Given the description of an element on the screen output the (x, y) to click on. 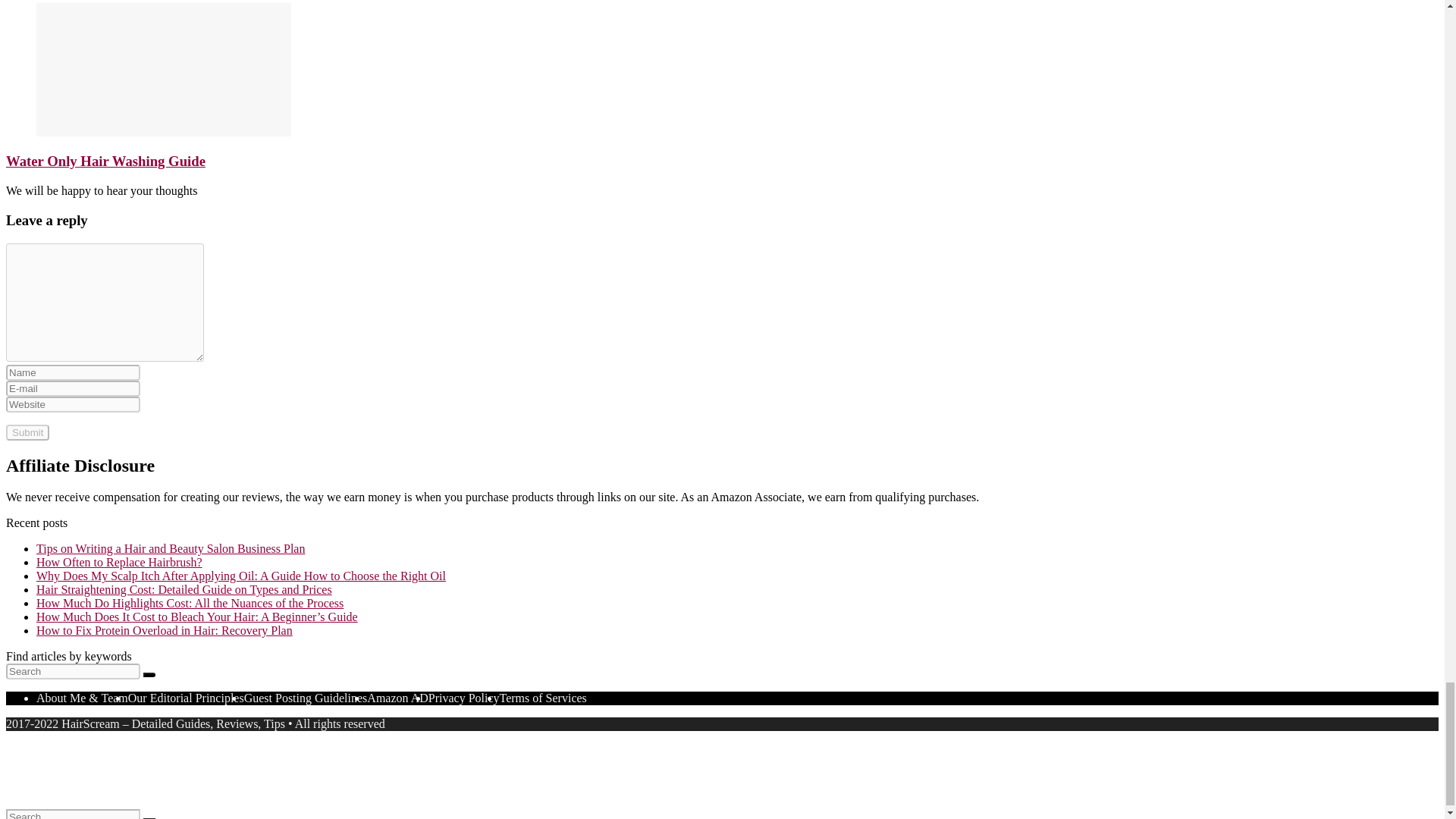
Submit (27, 432)
